Given the description of an element on the screen output the (x, y) to click on. 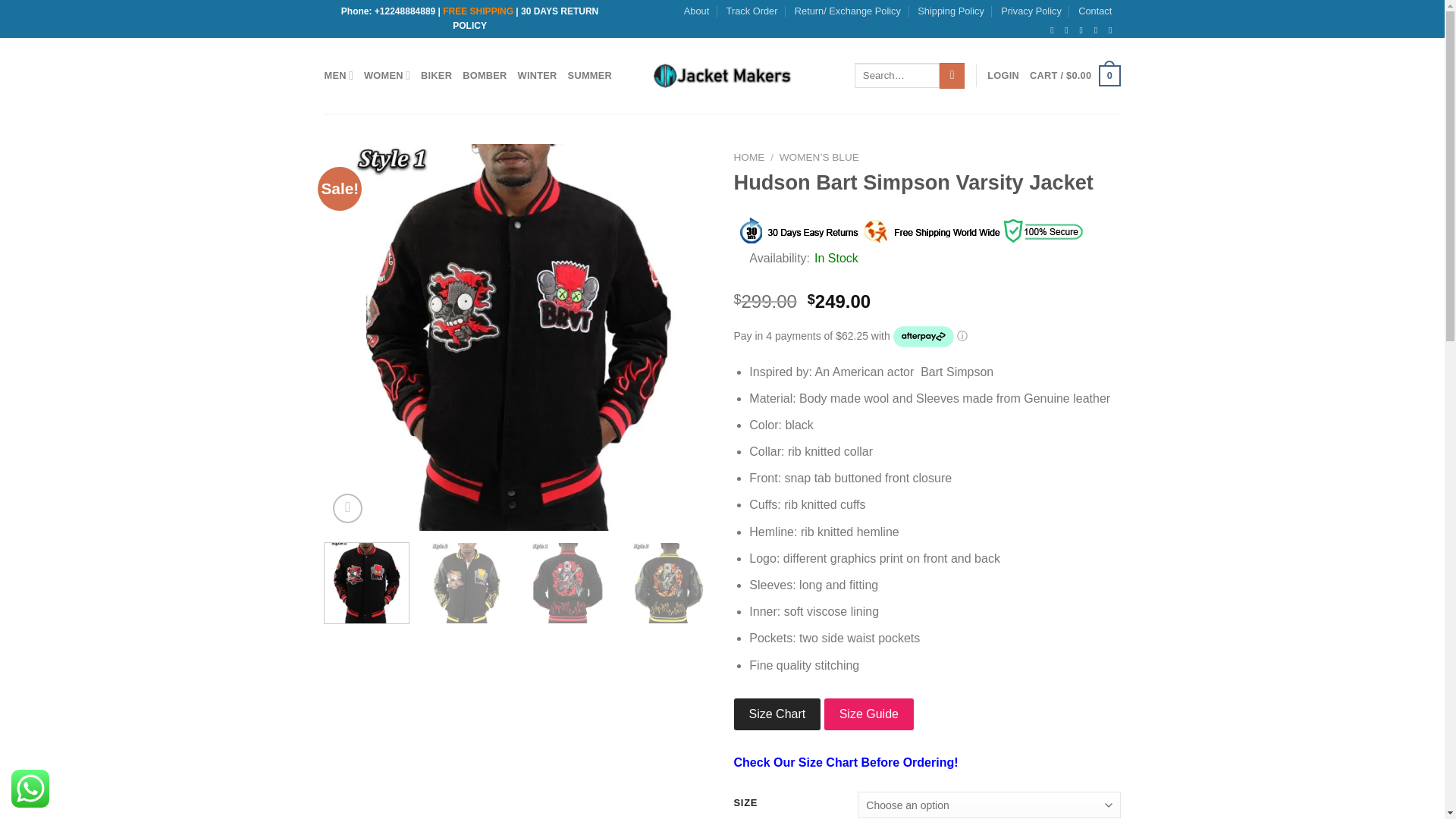
Shipping Policy (950, 11)
Privacy Policy (1031, 11)
MEN (338, 75)
Cart (1074, 75)
Afterpay (923, 336)
Track Order (751, 11)
About (696, 11)
Contact (1095, 11)
